Given the description of an element on the screen output the (x, y) to click on. 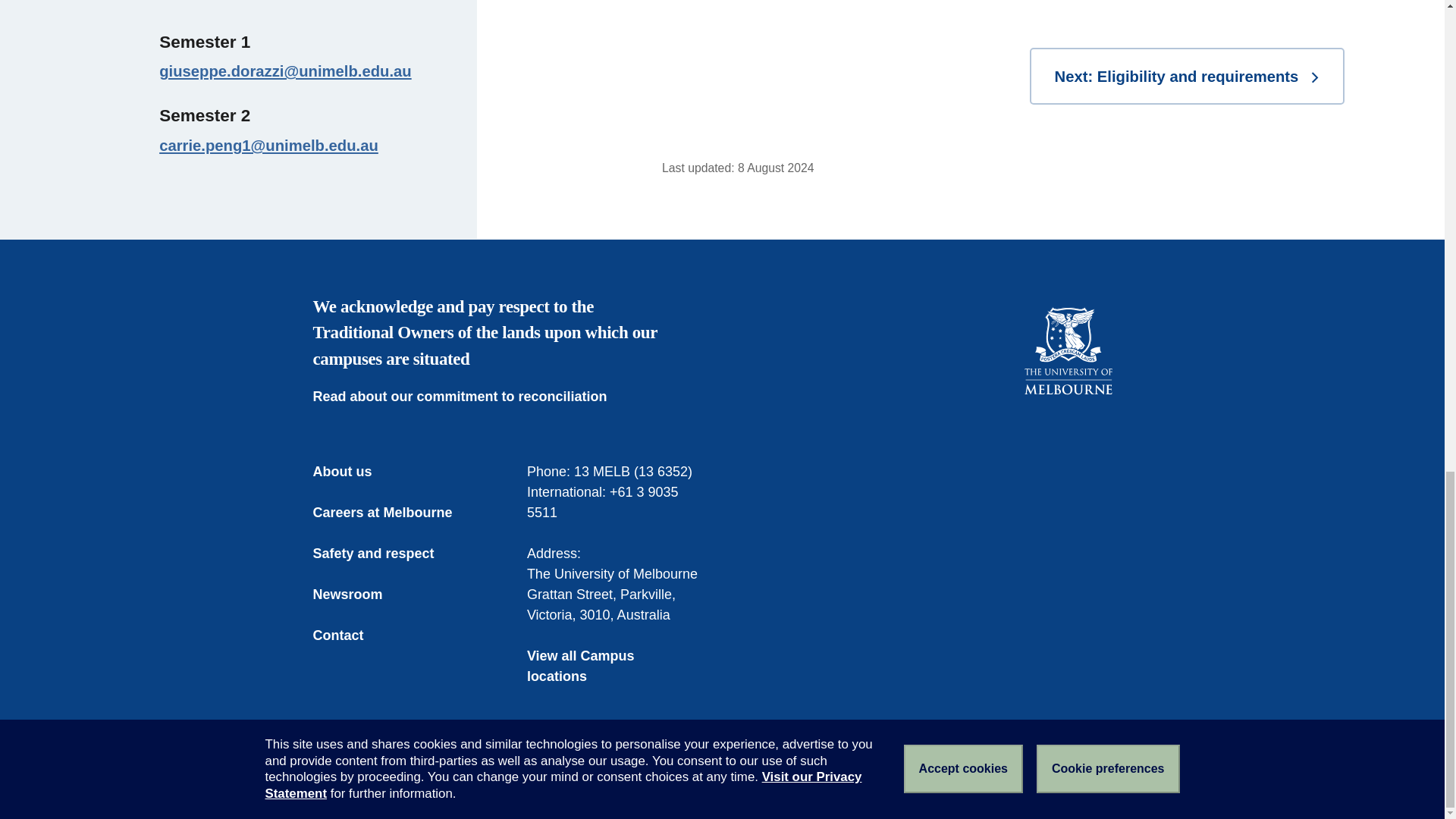
Safety and respect (384, 553)
View all Campus locations (615, 666)
Careers at Melbourne (393, 512)
Contact (349, 635)
Accessibility (532, 780)
Newsroom (358, 594)
About us (353, 471)
Privacy (604, 780)
Emergency (345, 780)
Read about our commitment to reconciliation (470, 396)
